Given the description of an element on the screen output the (x, y) to click on. 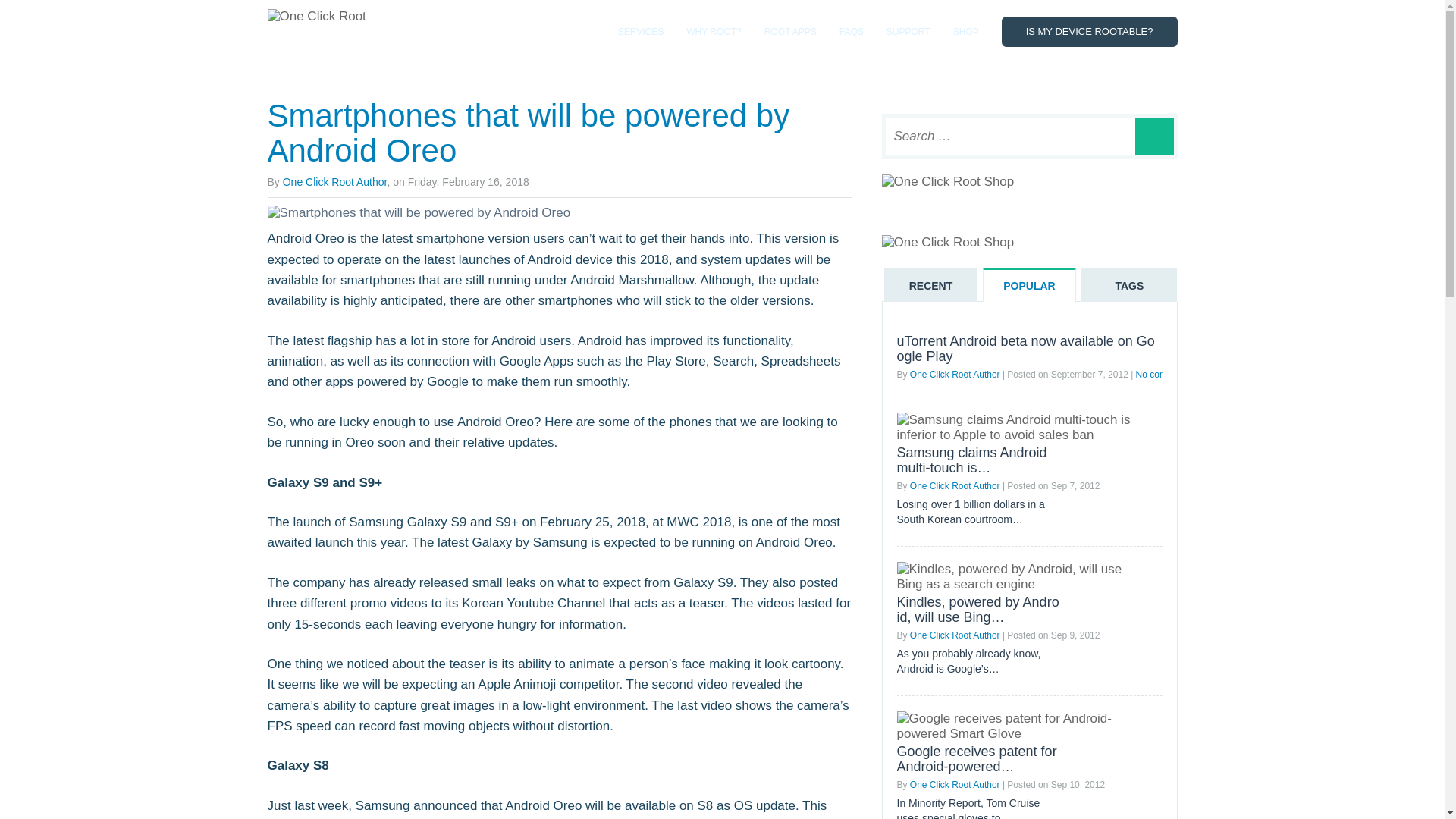
SERVICES (640, 31)
TAGS (1128, 284)
RECENT (929, 284)
Search (1153, 136)
WHY ROOT? (713, 31)
ROOT APPS (790, 31)
View all posts by One Click Root Author (334, 182)
POPULAR (1028, 284)
Smartphones that will be powered by Android Oreo (527, 132)
